Given the description of an element on the screen output the (x, y) to click on. 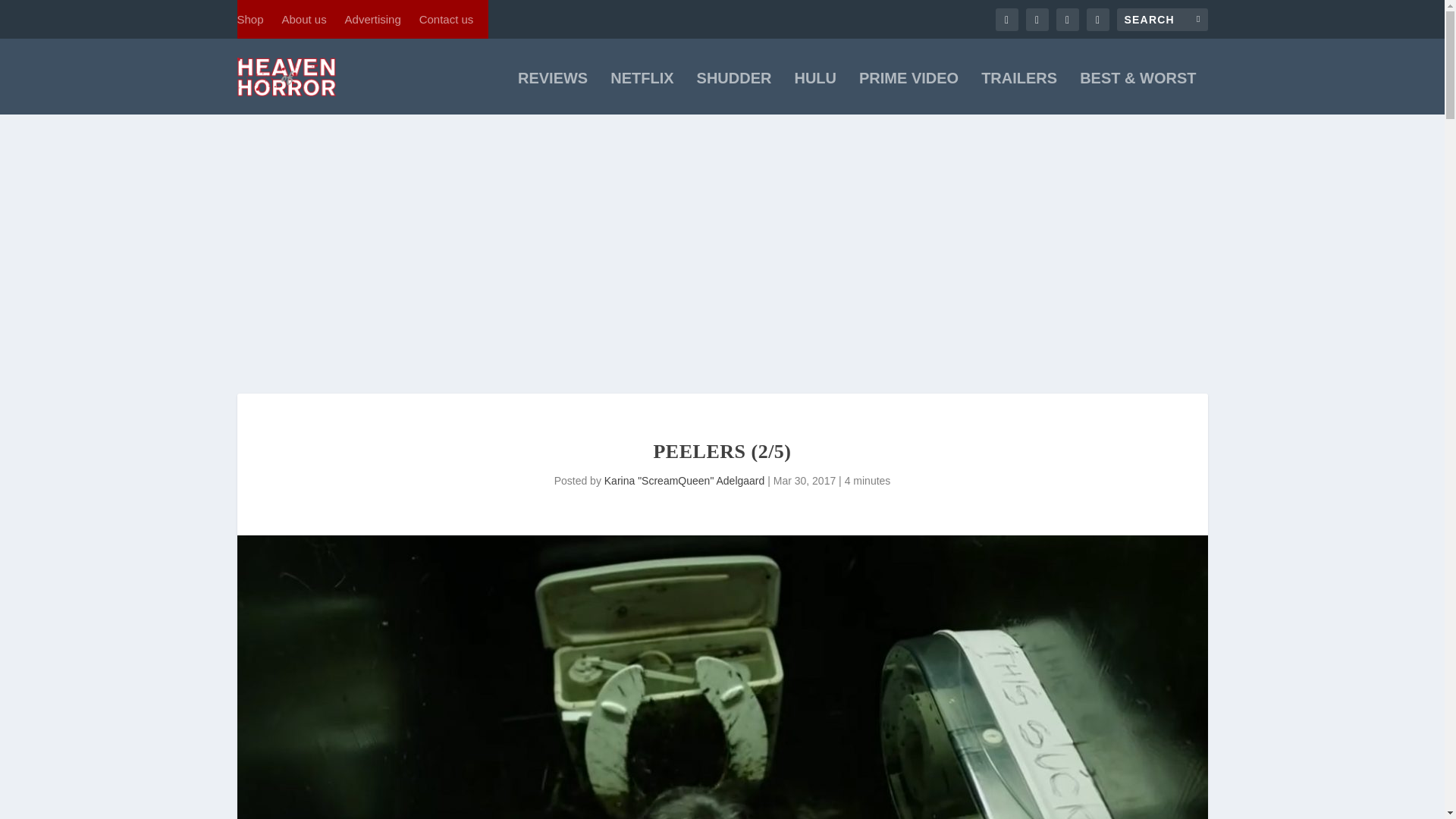
Search for: (1161, 18)
HULU (814, 93)
PRIME VIDEO (908, 93)
Karina "ScreamQueen" Adelgaard (684, 480)
TRAILERS (1019, 93)
Advertising (373, 19)
About us (303, 19)
NETFLIX (641, 93)
Posts by Karina "ScreamQueen" Adelgaard (684, 480)
